Given the description of an element on the screen output the (x, y) to click on. 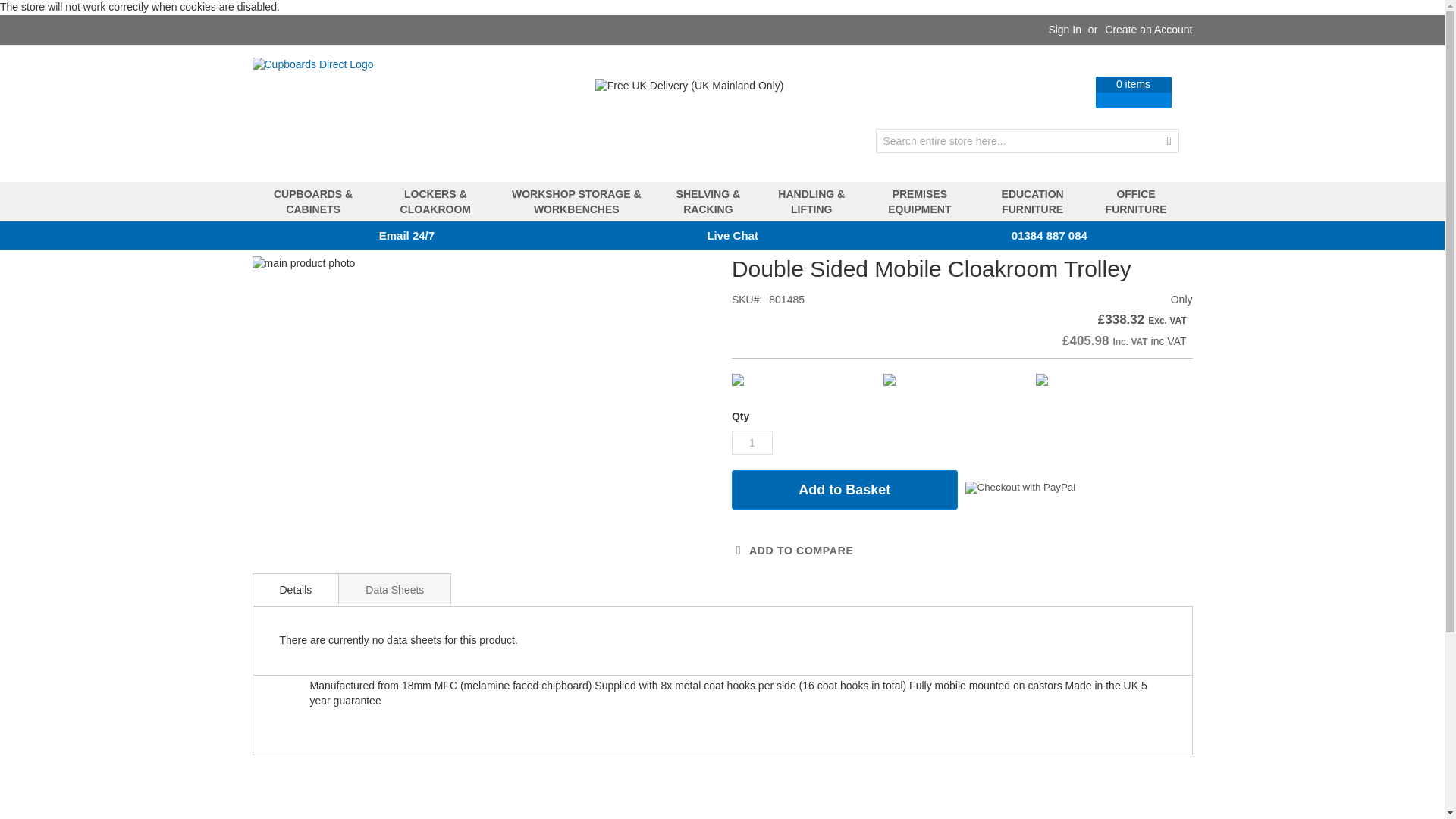
Account (1003, 91)
Sign In (1064, 29)
Create an Account (1148, 29)
1 (752, 442)
0 items (1069, 91)
Cupboards Direct Logo (365, 114)
